Given the description of an element on the screen output the (x, y) to click on. 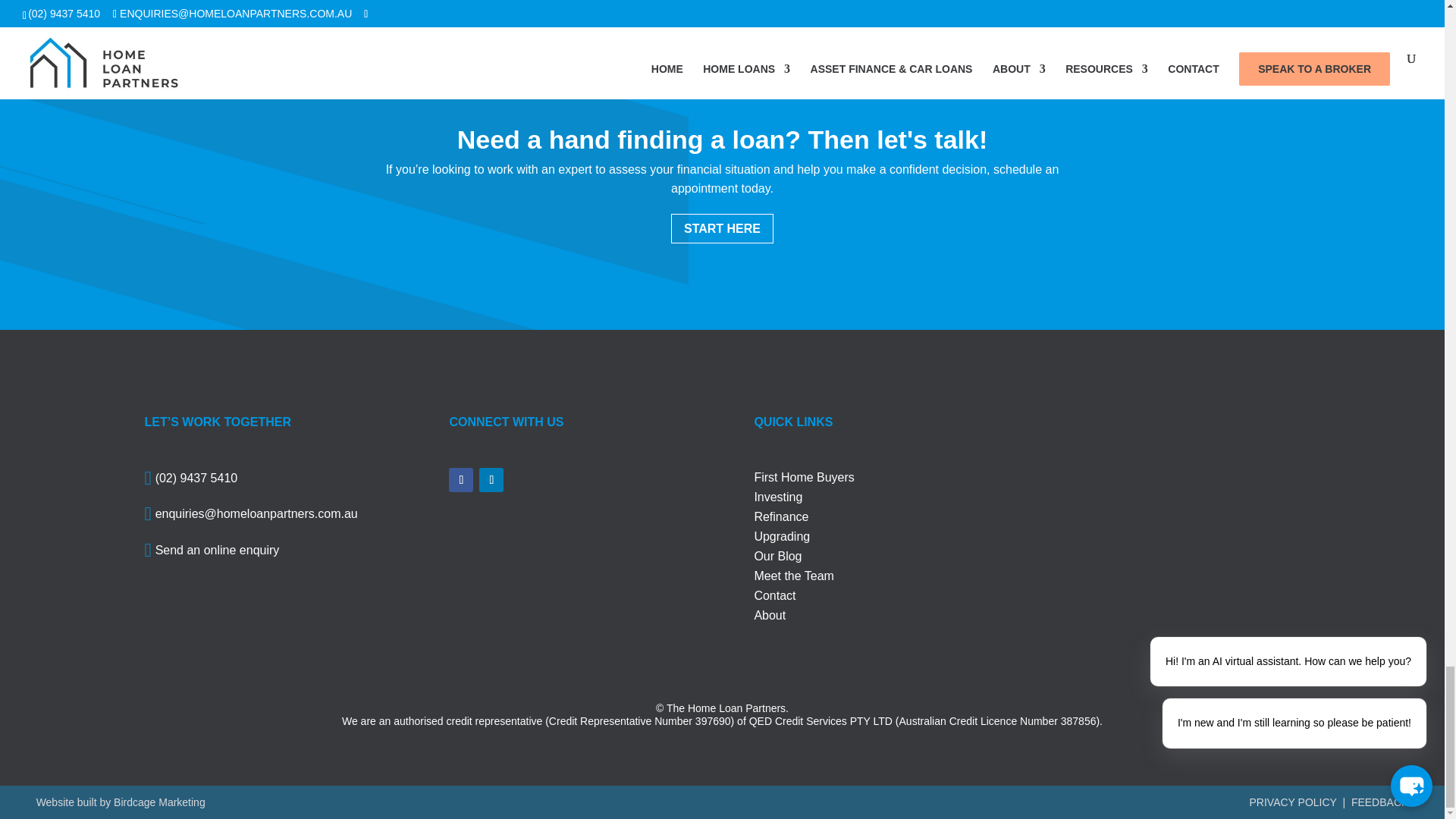
Follow on Facebook (460, 479)
Follow on LinkedIn (491, 479)
